Given the description of an element on the screen output the (x, y) to click on. 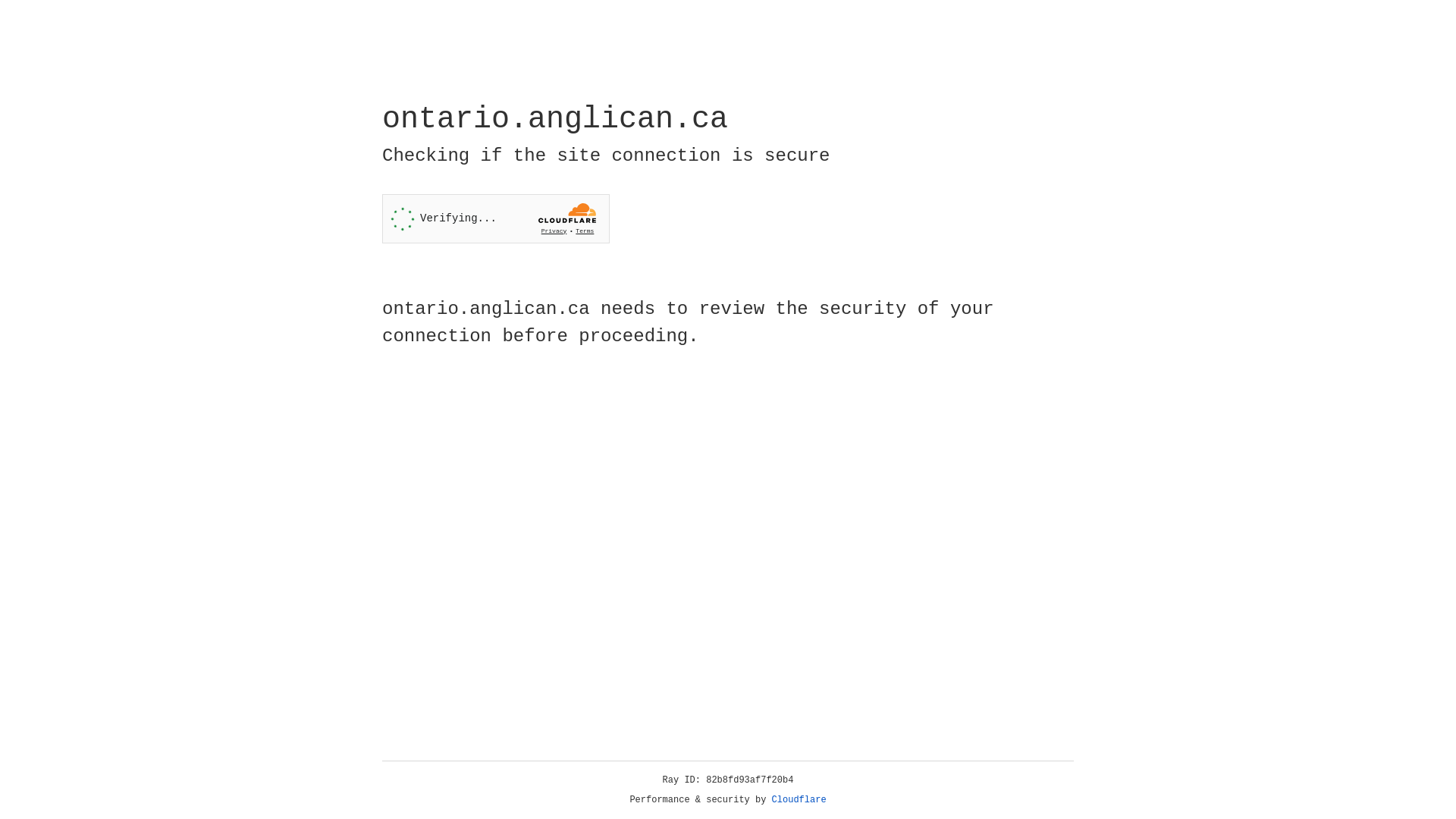
Widget containing a Cloudflare security challenge Element type: hover (495, 218)
Cloudflare Element type: text (798, 799)
